Given the description of an element on the screen output the (x, y) to click on. 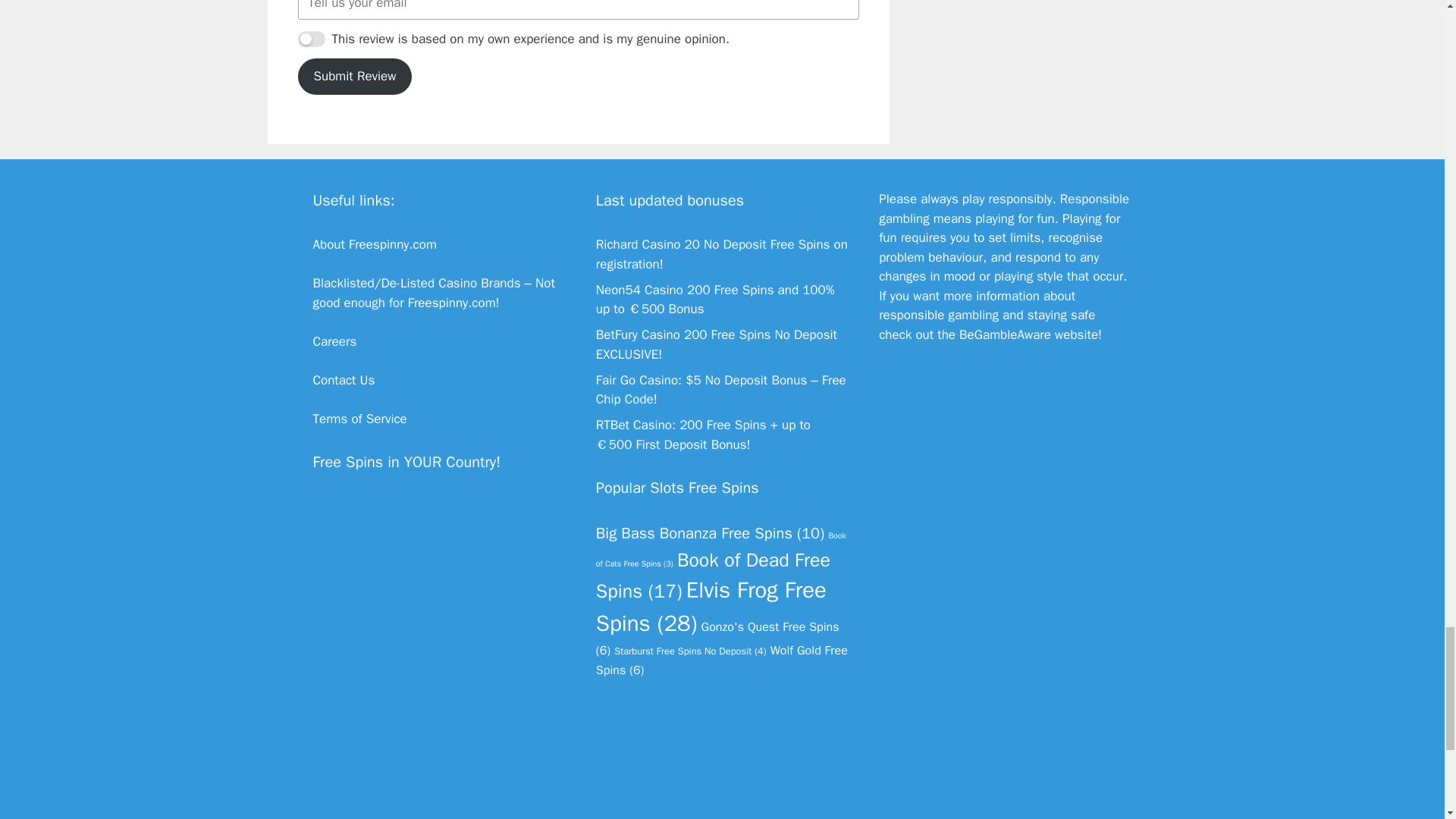
Submit Review (354, 76)
1 (310, 38)
